Given the description of an element on the screen output the (x, y) to click on. 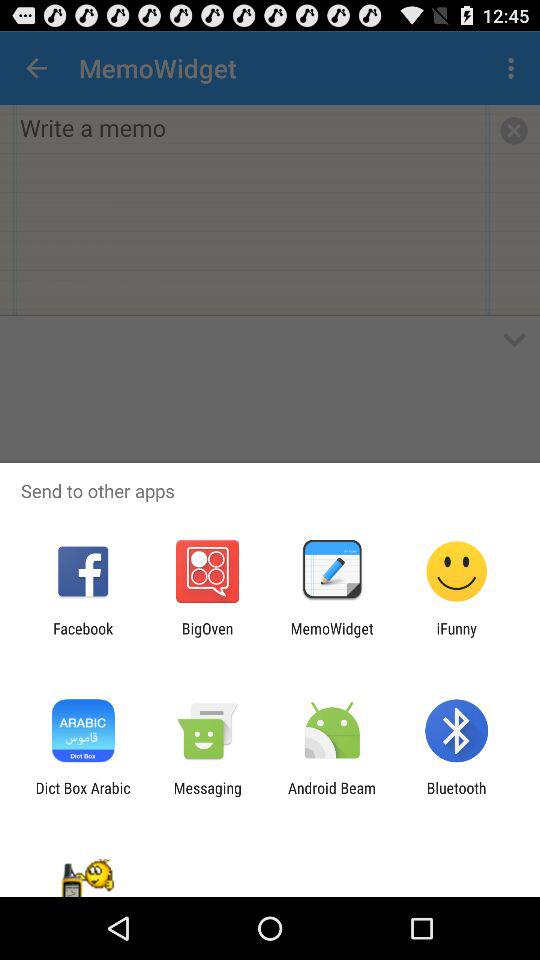
launch the app next to the facebook app (207, 637)
